Given the description of an element on the screen output the (x, y) to click on. 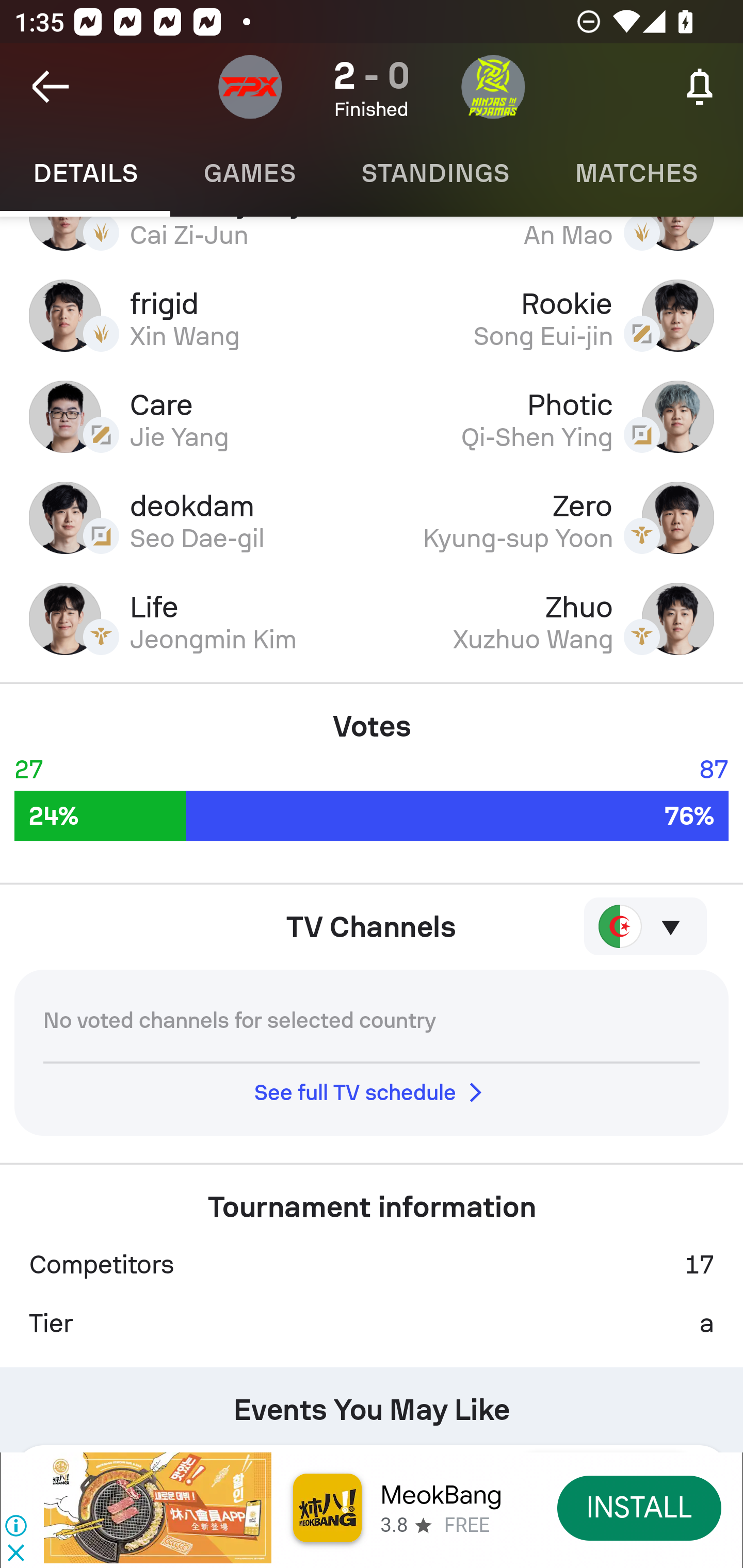
Navigate up (50, 86)
Games GAMES (249, 173)
Standings STANDINGS (434, 173)
Matches MATCHES (635, 173)
frigid Rookie Xin Wang Song Eui-jin (371, 315)
Care Photic Jie Yang Qi-Shen Ying (371, 416)
deokdam Zero Seo Dae-gil Kyung-sup Yoon (371, 517)
Life Zhuo Jeongmin Kim Xuzhuo Wang (371, 618)
See full TV schedule (371, 1092)
Events You May Like (371, 1402)
INSTALL (639, 1507)
MeokBang (440, 1494)
